Given the description of an element on the screen output the (x, y) to click on. 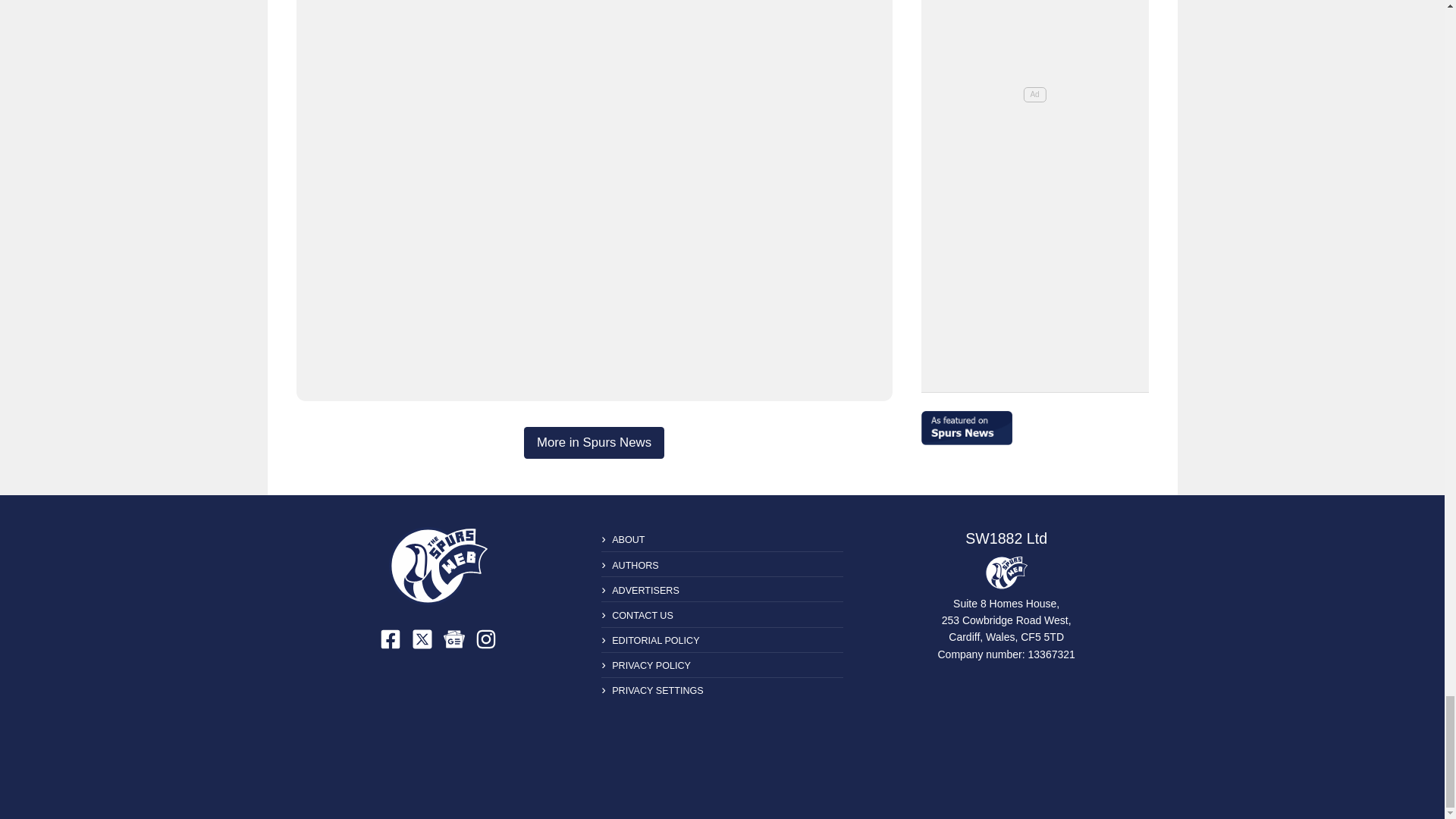
The Spurs Web - Tottenham Hotspur Football News on Instagram (486, 639)
The Spurs Web - Tottenham Hotspur Football News on Facebook (390, 639)
More in Spurs News (593, 442)
The Spurs Web - Tottenham Hotspur Football News (438, 566)
The Spurs Web - Tottenham Hotspur Football News on X (422, 639)
Spurs Web (1005, 572)
